Given the description of an element on the screen output the (x, y) to click on. 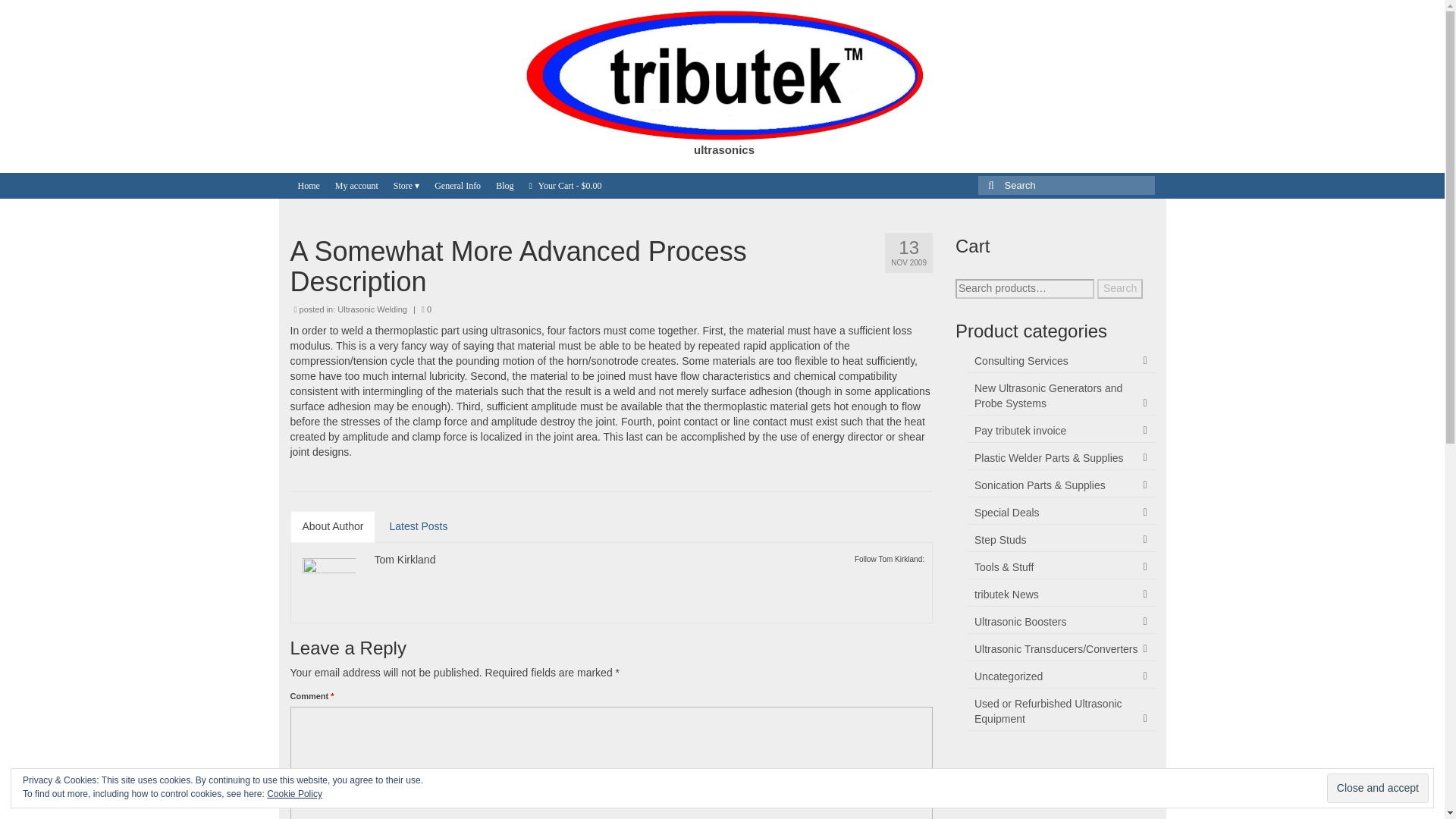
Blog (504, 185)
Pay tributek invoice (1060, 431)
General Info (456, 185)
Home (307, 185)
Posts by Tom Kirkland (404, 559)
New Ultrasonic Generators and Probe Systems (1060, 395)
Tom Kirkland (404, 559)
About Author (332, 526)
Store (405, 185)
View your shopping cart (564, 185)
